Given the description of an element on the screen output the (x, y) to click on. 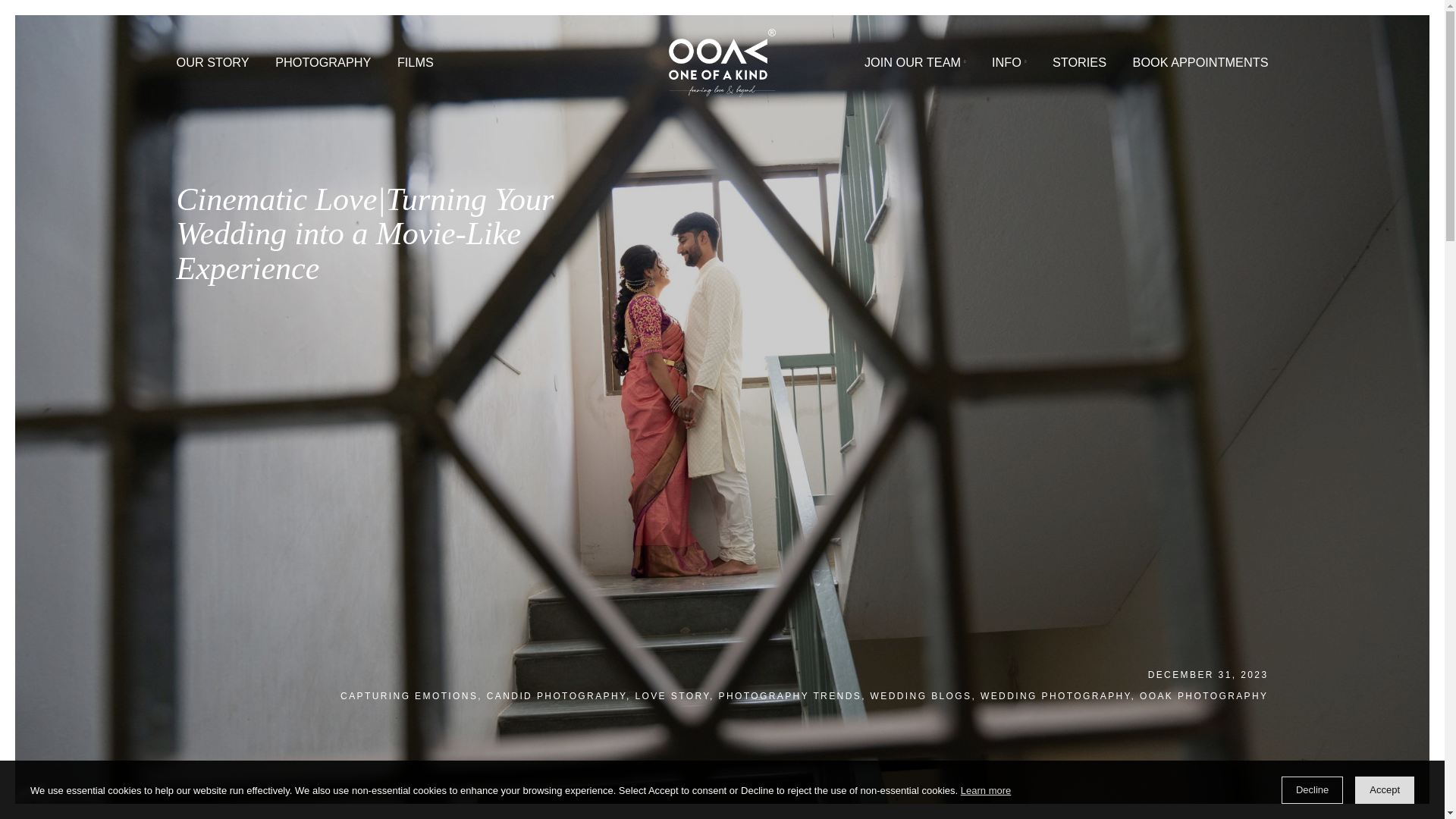
STORIES (1198, 69)
FILMS (461, 69)
BOOK APPOINTMENTS (1333, 69)
JOIN OUR TEAM (1015, 69)
Decline (1311, 789)
Accept (1384, 789)
INFO (1120, 69)
Learn more (985, 791)
PHOTOGRAPHY (358, 69)
OUR STORY (235, 69)
